Given the description of an element on the screen output the (x, y) to click on. 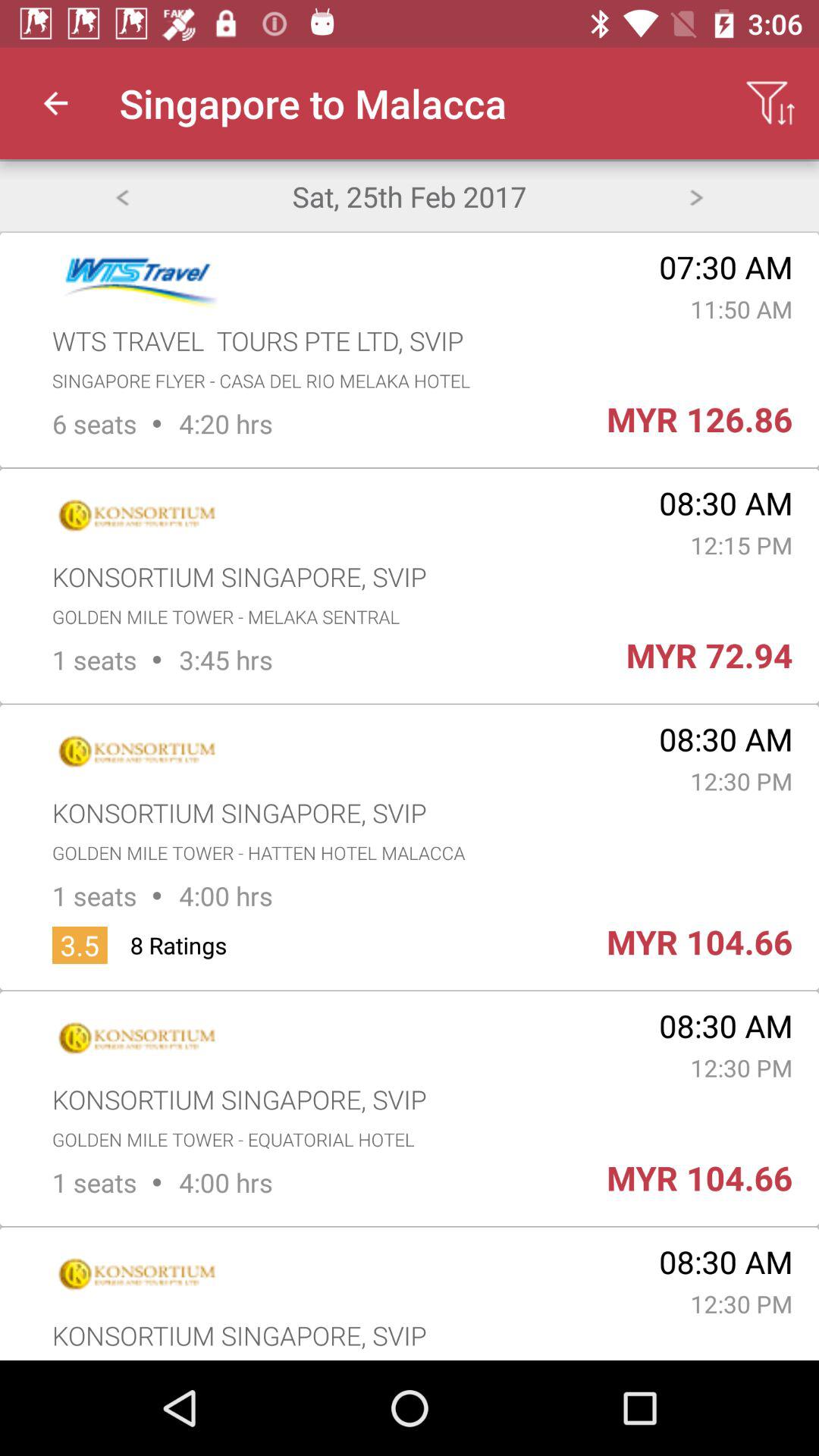
click icon above the 07:30 am (696, 196)
